Given the description of an element on the screen output the (x, y) to click on. 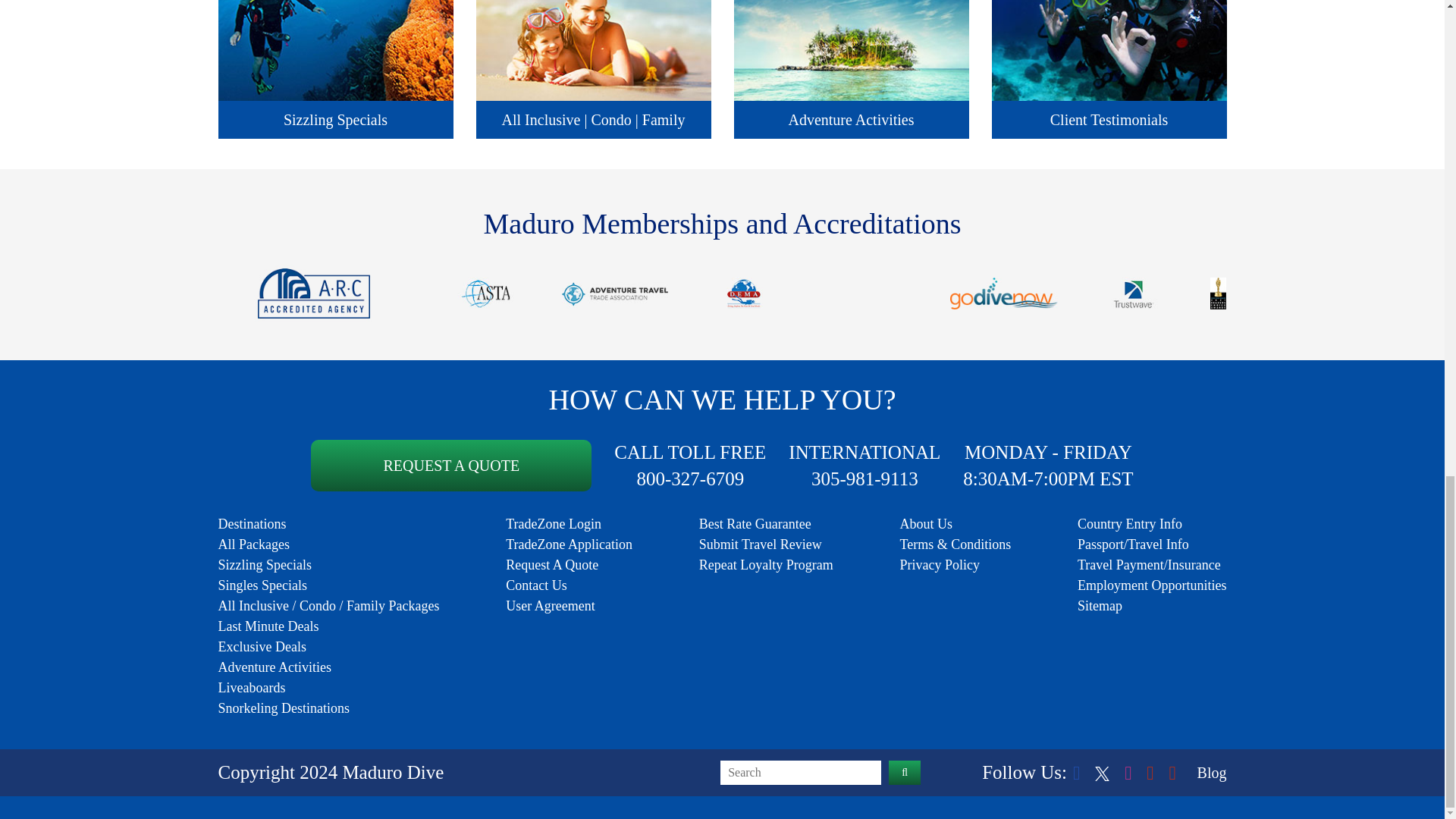
Liveaboards (251, 687)
Destinations (252, 523)
All Packages (253, 544)
Client Testimonials (1109, 69)
Singles Specials (262, 585)
Sizzling Specials (264, 564)
Snorkeling Destinations (284, 708)
Adventure Activities (274, 667)
REQUEST A QUOTE (451, 465)
Exclusive Deals (261, 646)
